Given the description of an element on the screen output the (x, y) to click on. 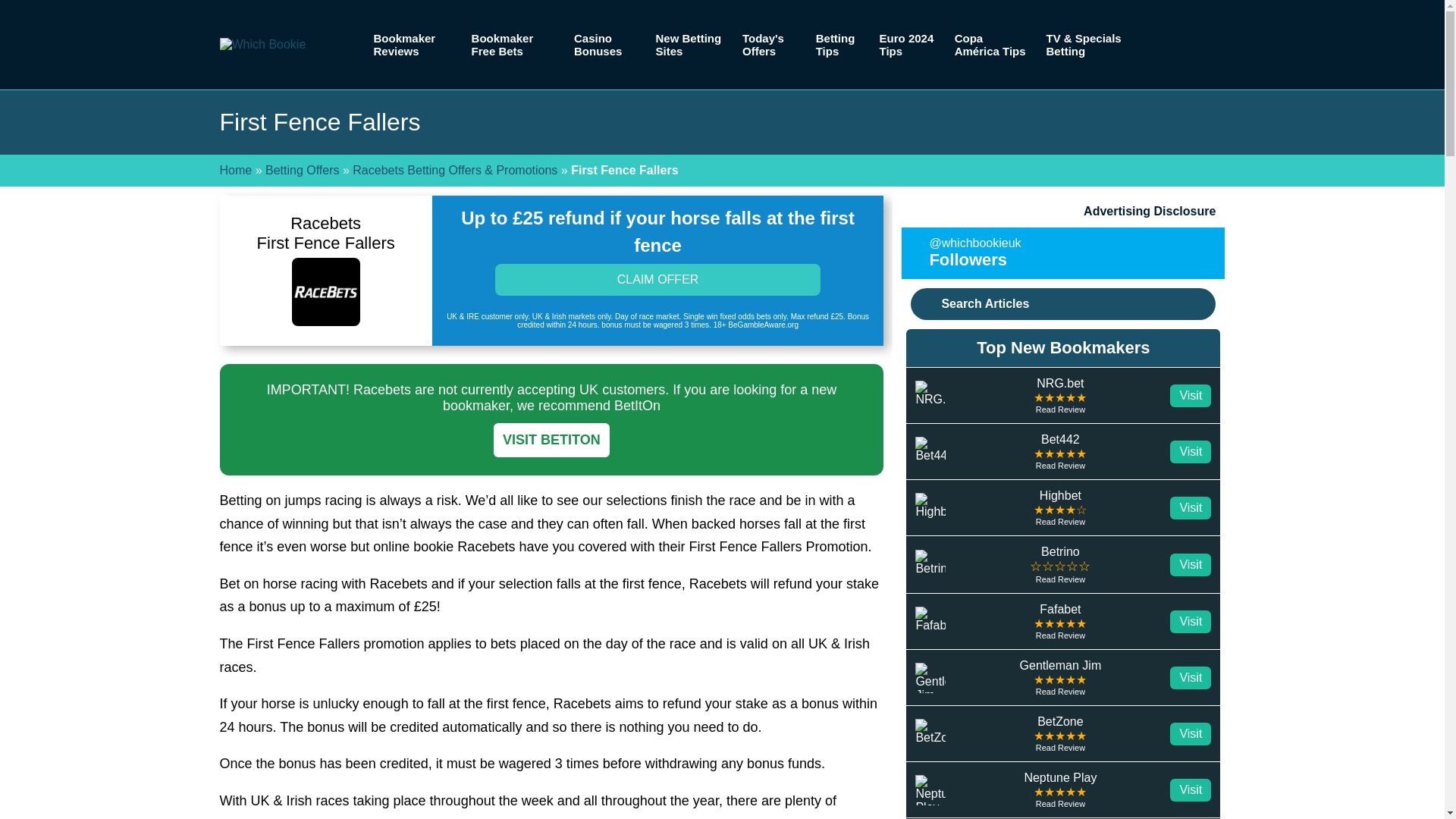
Bookmaker Reviews (412, 44)
Bookmaker Free Bets (513, 44)
